Given the description of an element on the screen output the (x, y) to click on. 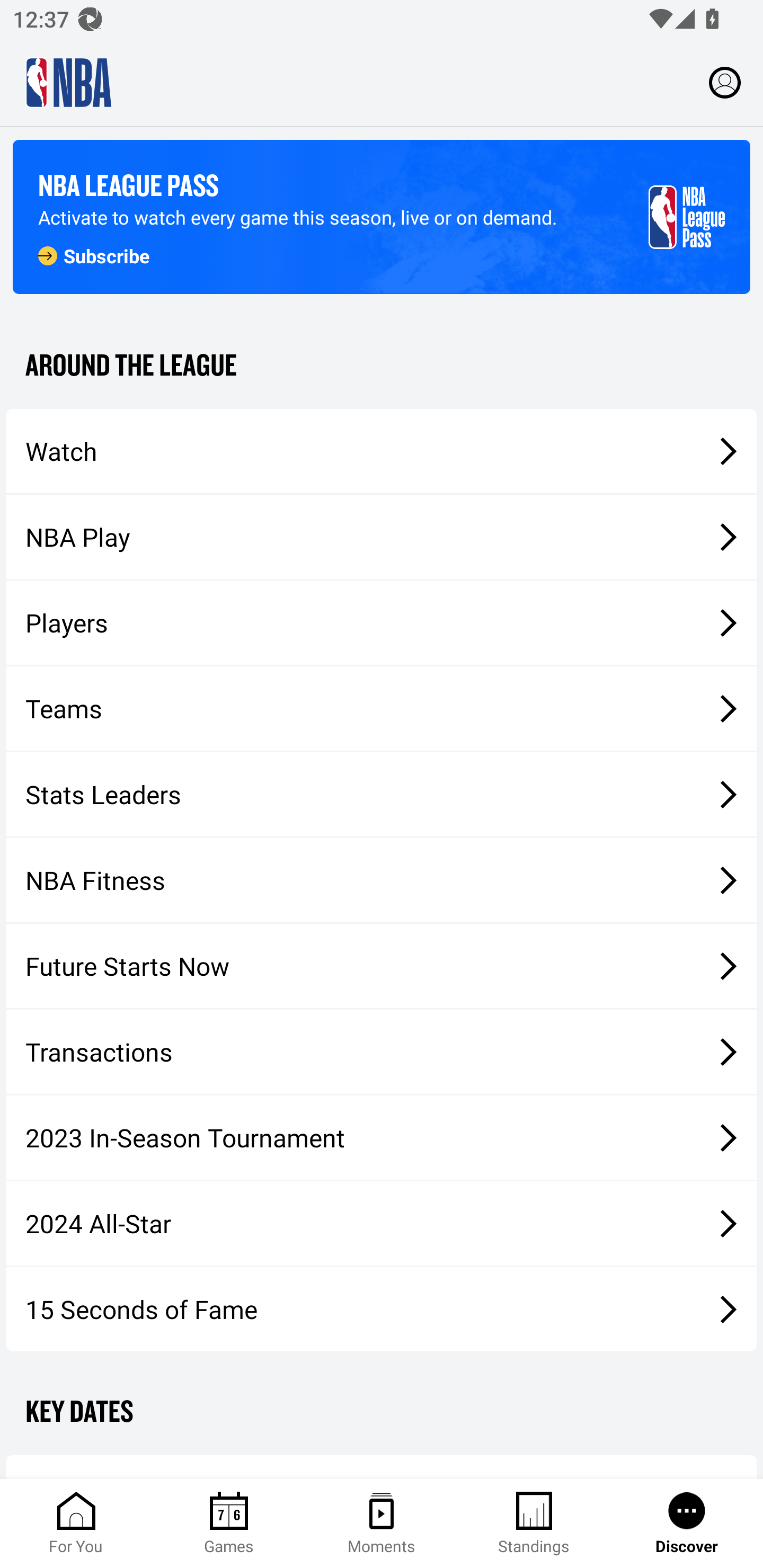
Profile (724, 81)
Watch (381, 451)
NBA Play (381, 536)
Players (381, 622)
Teams (381, 708)
Stats Leaders (381, 793)
NBA Fitness (381, 879)
Future Starts Now (381, 965)
Transactions (381, 1051)
2023 In-Season Tournament (381, 1137)
2024 All-Star (381, 1222)
15 Seconds of Fame (381, 1308)
For You (76, 1523)
Games (228, 1523)
Moments (381, 1523)
Standings (533, 1523)
